Given the description of an element on the screen output the (x, y) to click on. 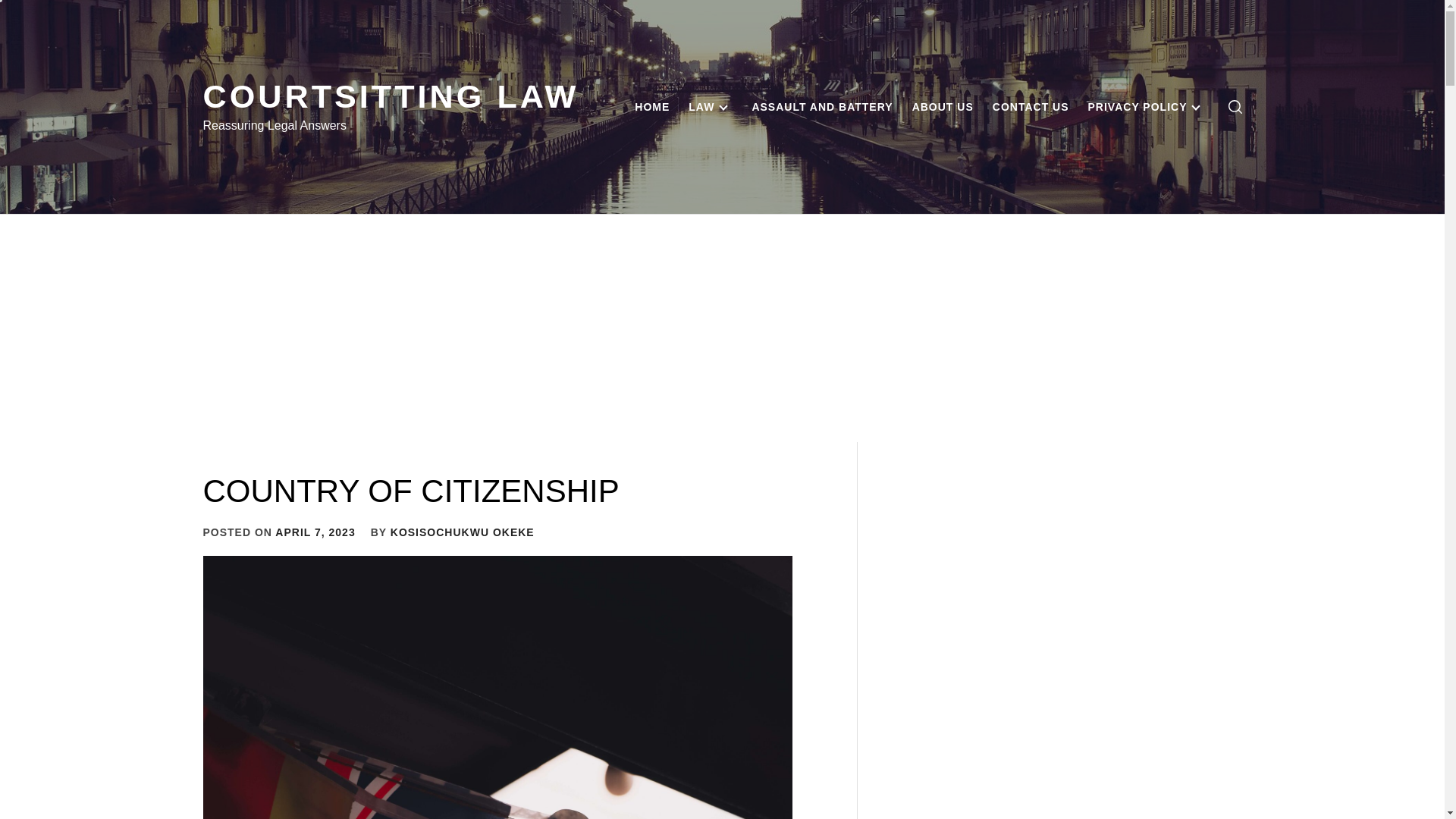
CONTACT US (1031, 106)
ABOUT US (942, 106)
ASSAULT AND BATTERY (821, 106)
Search (797, 409)
KOSISOCHUKWU OKEKE (462, 532)
APRIL 7, 2023 (315, 532)
PRIVACY POLICY (1146, 106)
HOME (652, 106)
LAW (710, 106)
COURTSITTING LAW (391, 95)
